Given the description of an element on the screen output the (x, y) to click on. 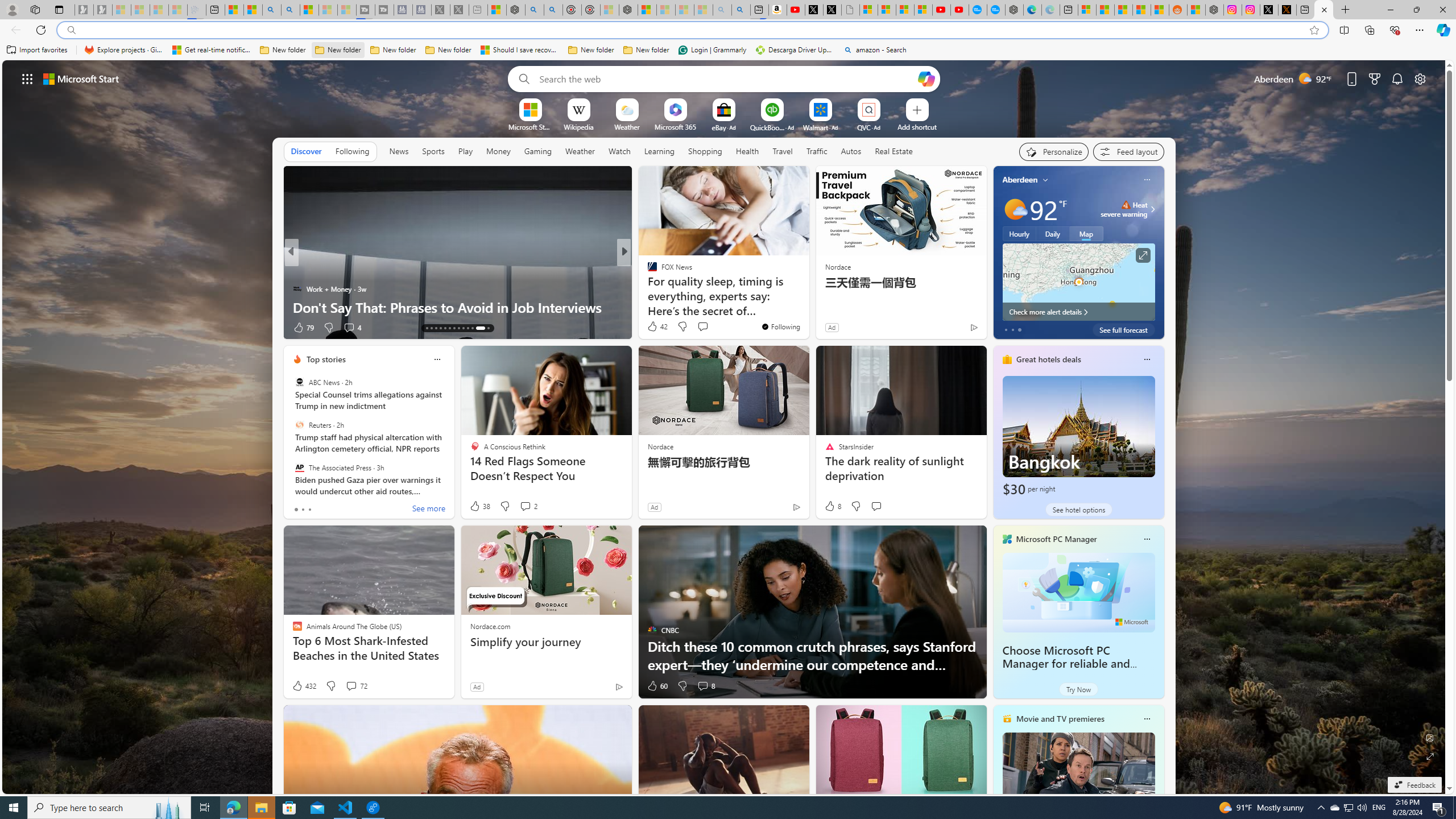
Shanghai, China Weather trends | Microsoft Weather (1159, 9)
View comments 3 Comment (6, 327)
AutomationID: tab-15 (435, 328)
Wikipedia (578, 126)
Newsletter Sign Up - Sleeping (102, 9)
AutomationID: tab-18 (449, 328)
View comments 2 Comment (525, 505)
Page settings (1420, 78)
